Given the description of an element on the screen output the (x, y) to click on. 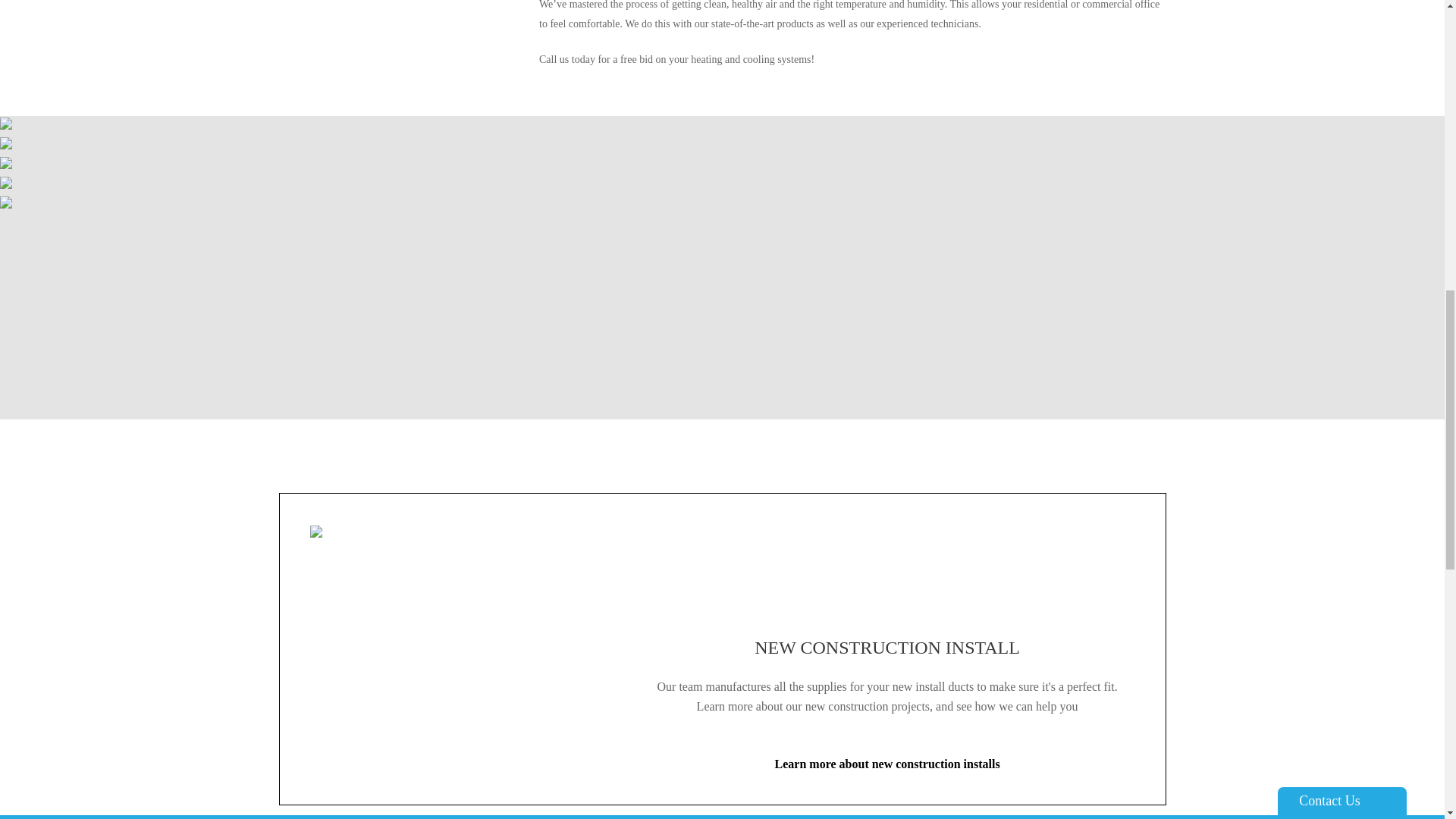
Learn more about new construction installs (887, 763)
